Given the description of an element on the screen output the (x, y) to click on. 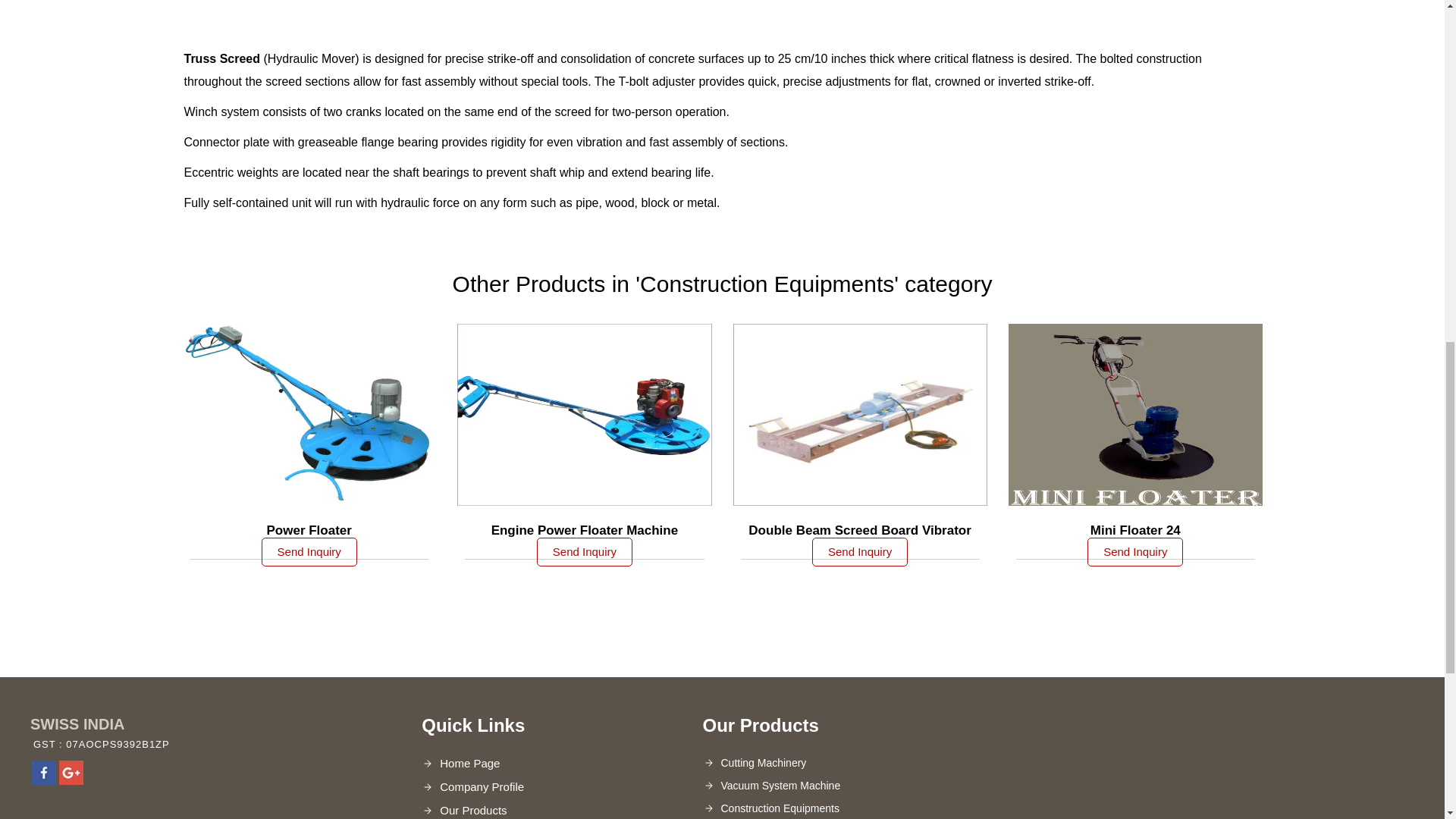
Facebook (44, 780)
Double Beam Screed Board Vibrator (859, 530)
Send Inquiry (309, 551)
Google Plus (70, 780)
Power Floater (309, 530)
Engine Power Floater Machine (585, 530)
Send Inquiry (584, 551)
